Given the description of an element on the screen output the (x, y) to click on. 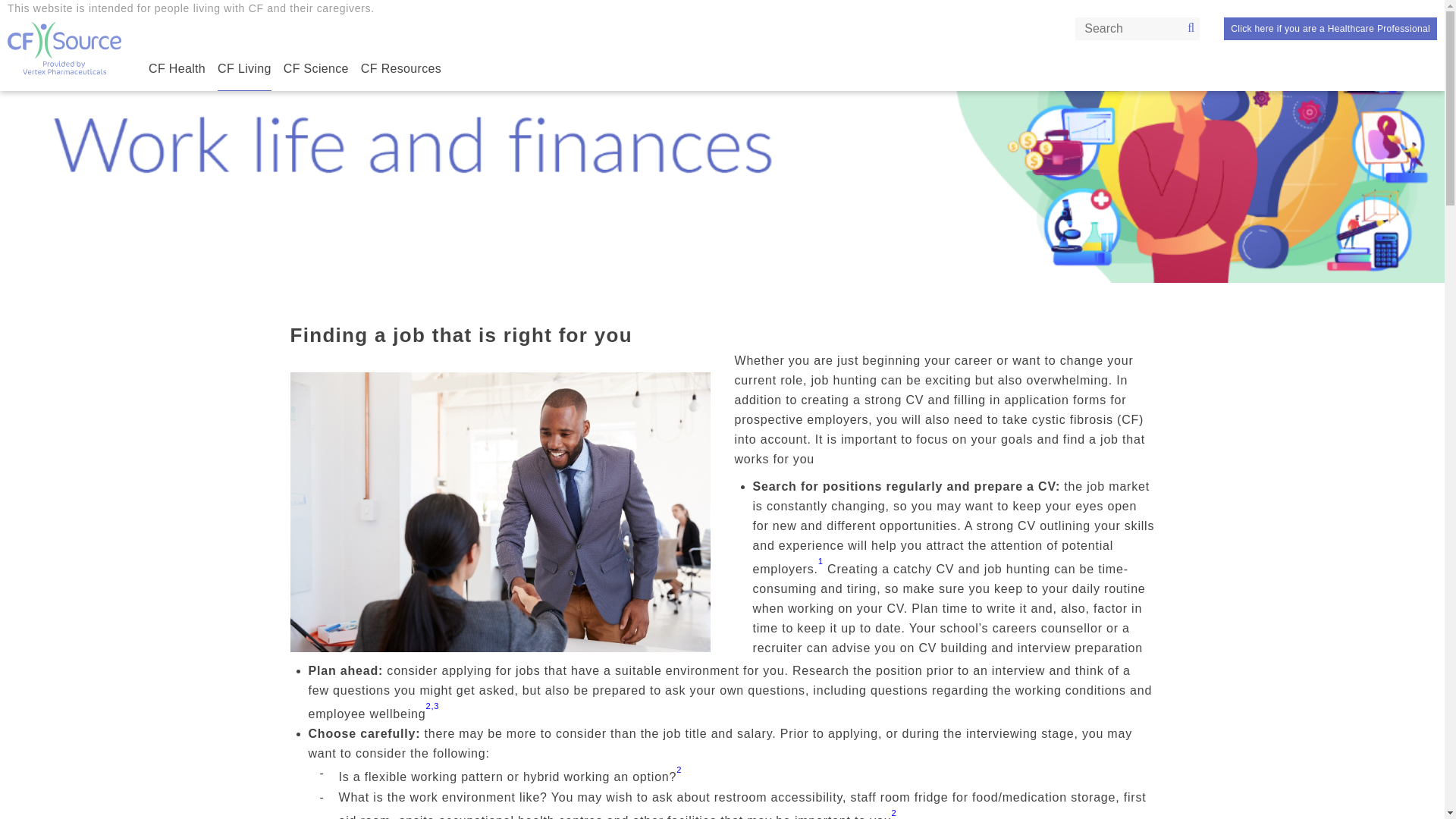
Search (1187, 28)
Search (1187, 28)
CF Science (316, 68)
CF Health (176, 68)
CFSource Logo (63, 48)
CF Resources (401, 68)
Click here if you are a Healthcare Professional (1330, 28)
CF Living (243, 68)
